Given the description of an element on the screen output the (x, y) to click on. 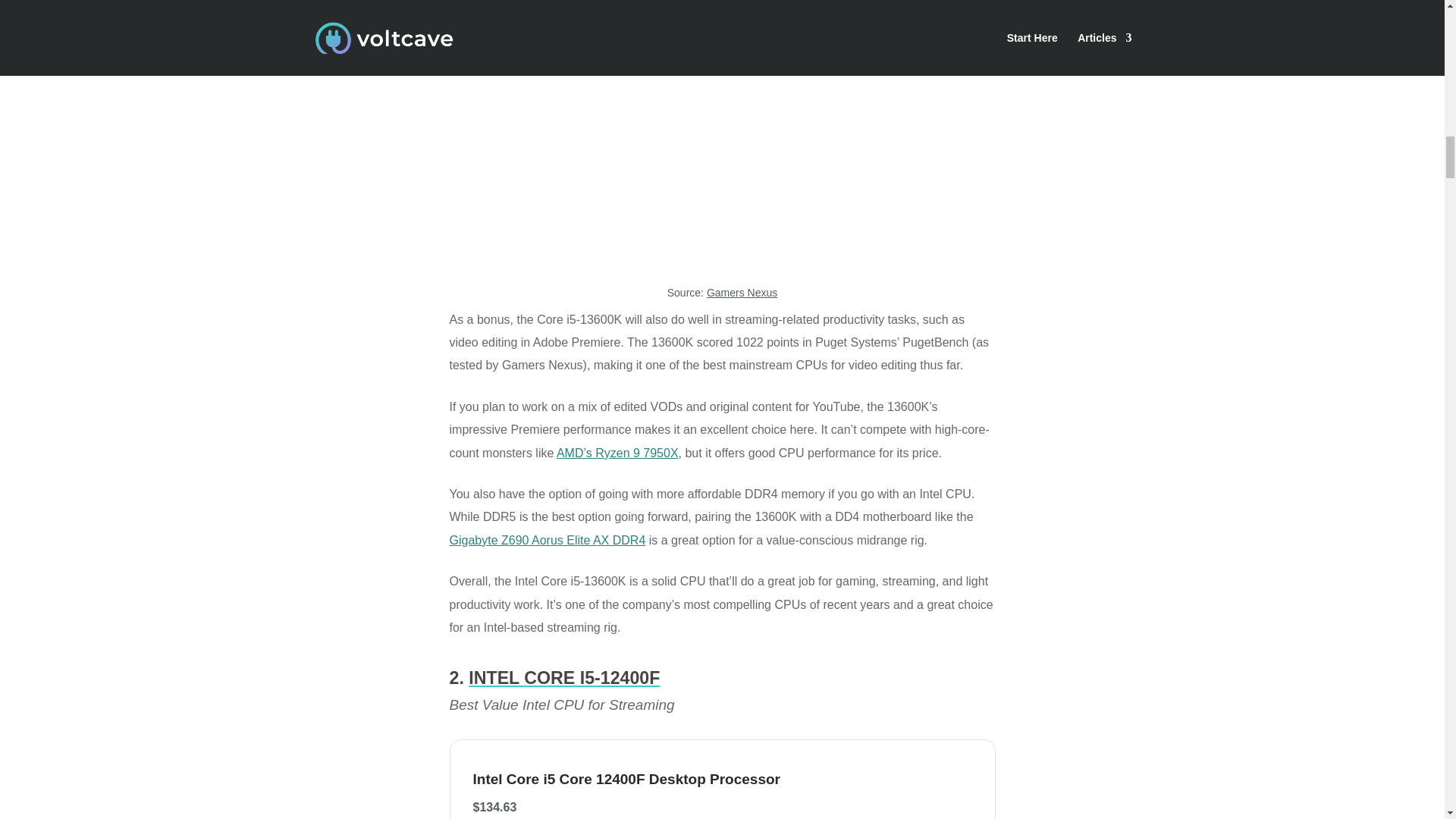
INTEL CORE I5-12400F (563, 677)
Gigabyte Z690 Aorus Elite AX DDR4 (546, 540)
Gamers Nexus (741, 292)
Intel Core i5 Core 12400F Desktop Processor (641, 779)
Intel Core i5 Core 12400F Desktop Processor (641, 779)
